Given the description of an element on the screen output the (x, y) to click on. 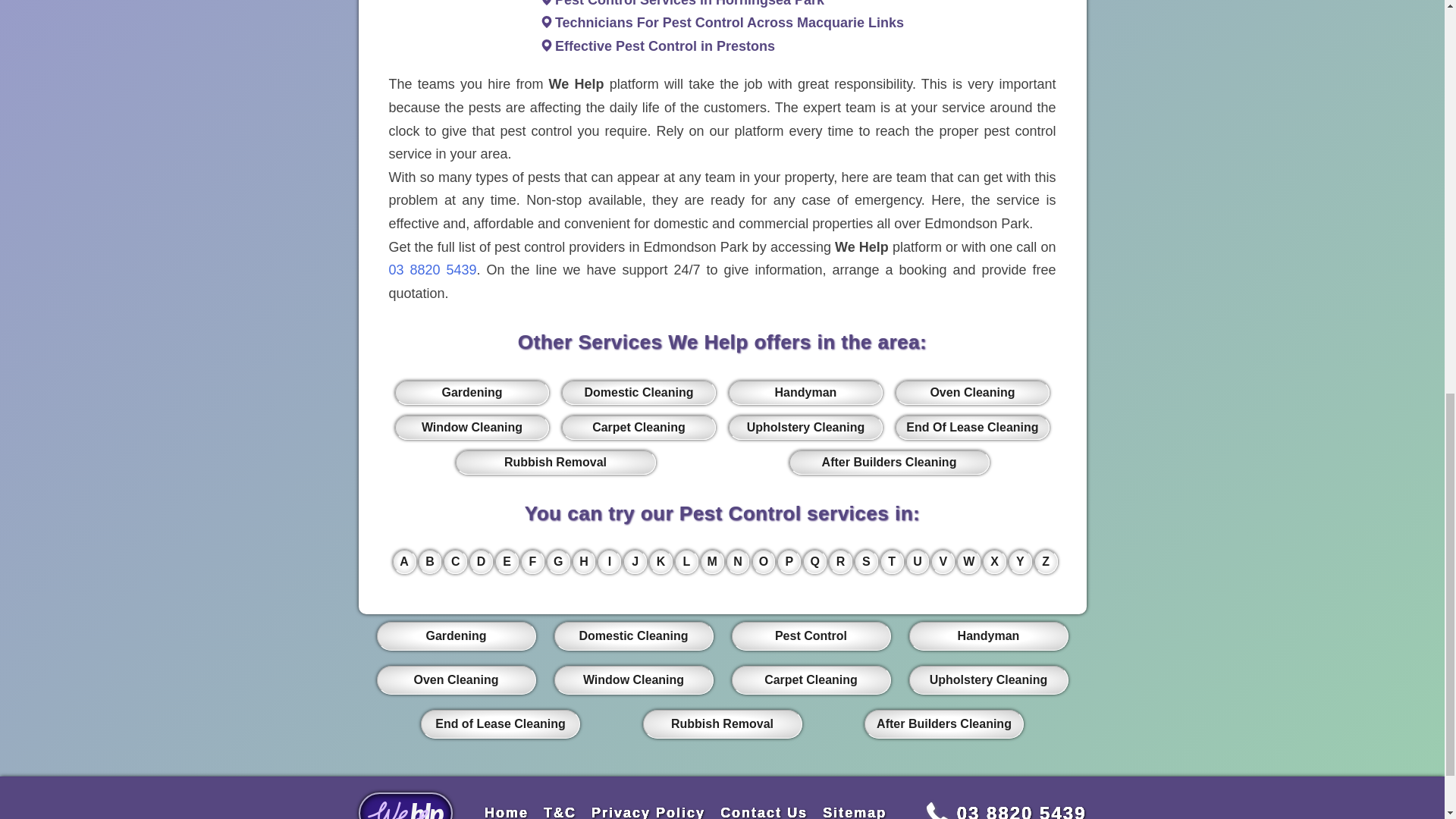
Window Cleaning (471, 427)
Technicians For Pest Control Across Macquarie Links (729, 22)
Pest Control Services in Horningsea Park (689, 3)
Rubbish Removal (554, 462)
Carpet Cleaning Edmondson Park 2171 (638, 427)
Upholstery Cleaning Edmondson Park 2171 (805, 427)
After Builders Cleaning (888, 462)
Handyman (805, 392)
Handyman Edmondson Park 2171 (805, 392)
Gardening (471, 392)
